Given the description of an element on the screen output the (x, y) to click on. 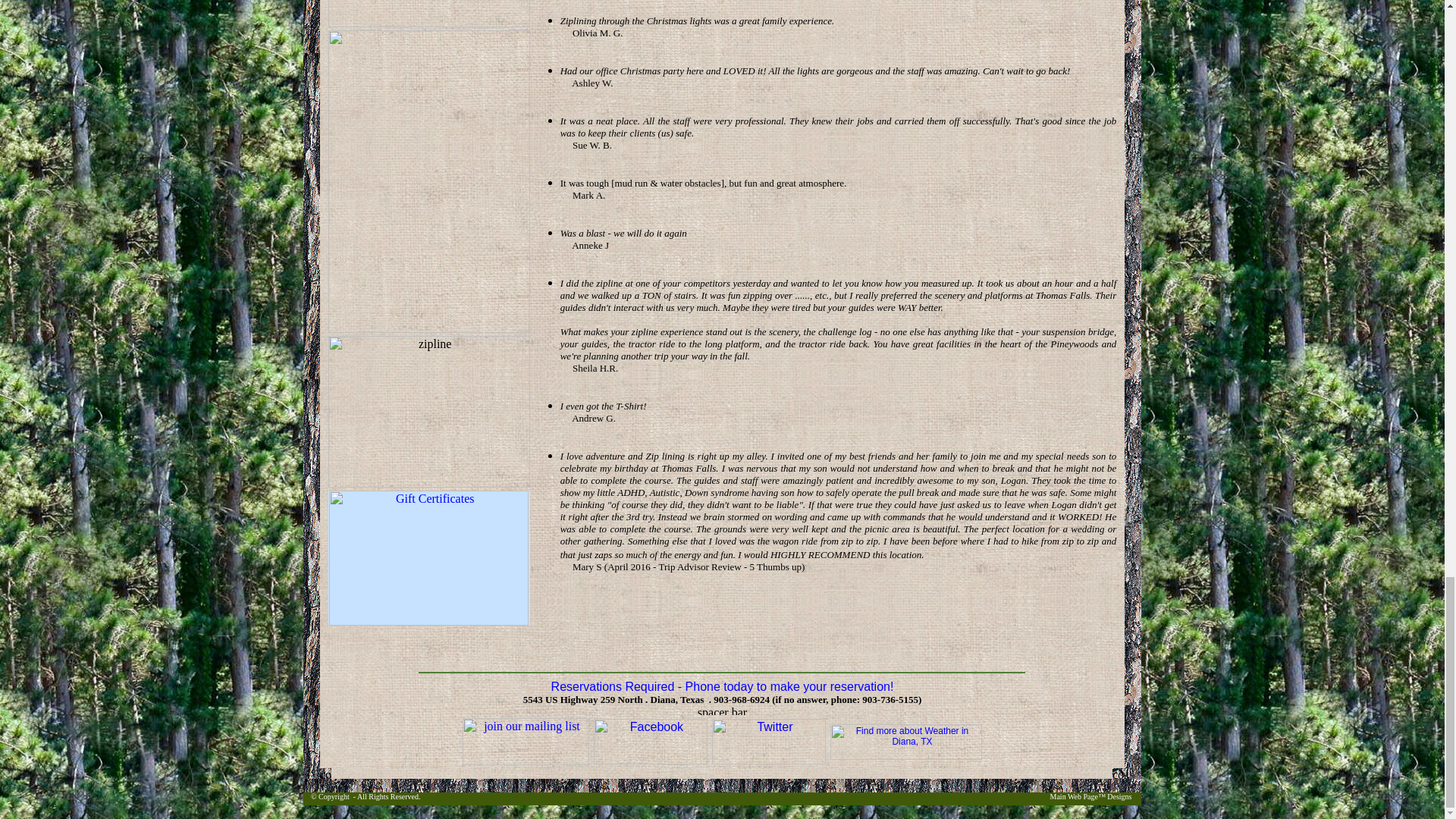
Diana, Texas Weather Forecast (905, 756)
